Given the description of an element on the screen output the (x, y) to click on. 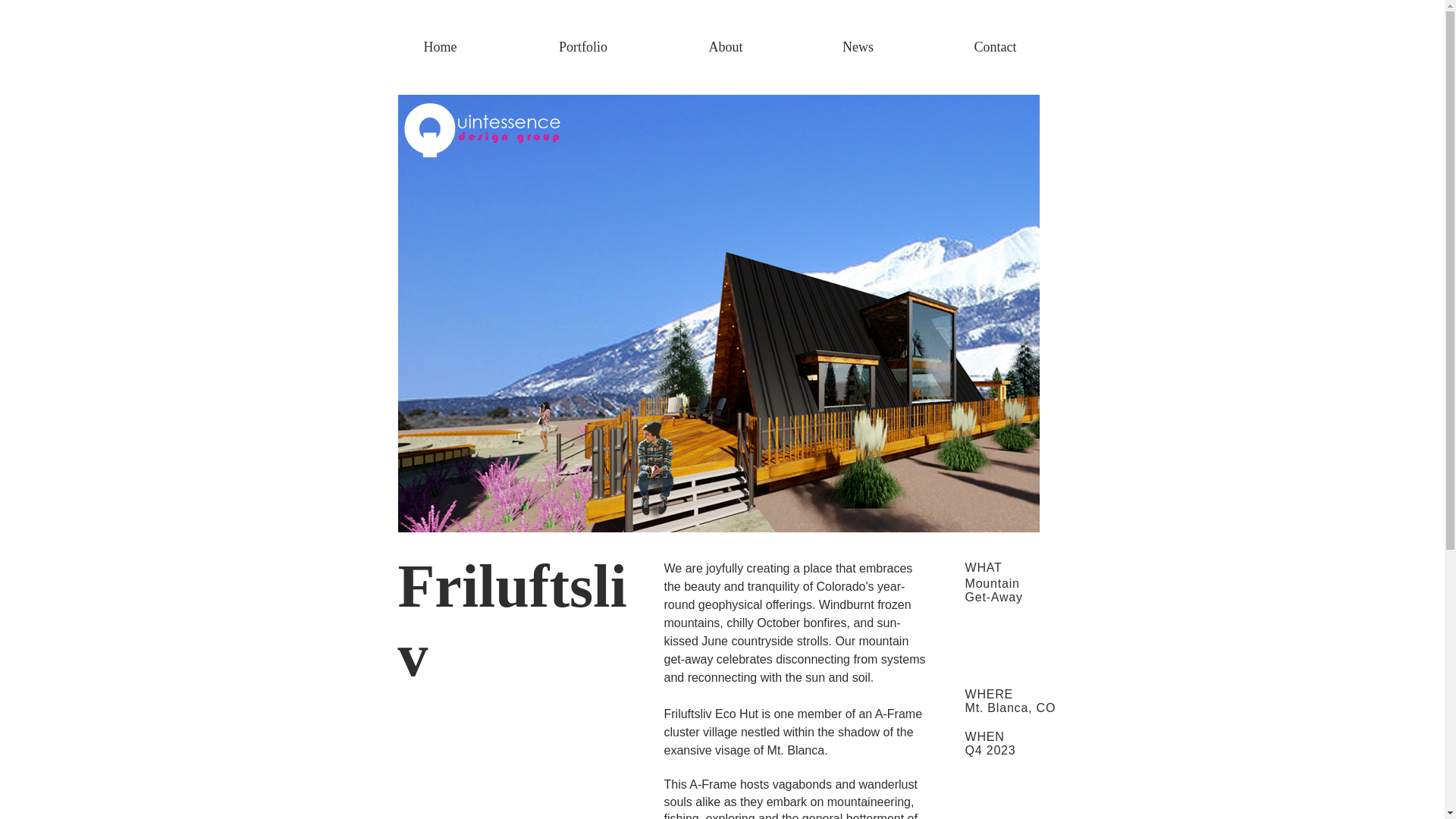
Home (440, 46)
Portfolio (583, 46)
About (725, 46)
News (858, 46)
Quintessence Black Pink.png (480, 131)
Contact (995, 46)
